Given the description of an element on the screen output the (x, y) to click on. 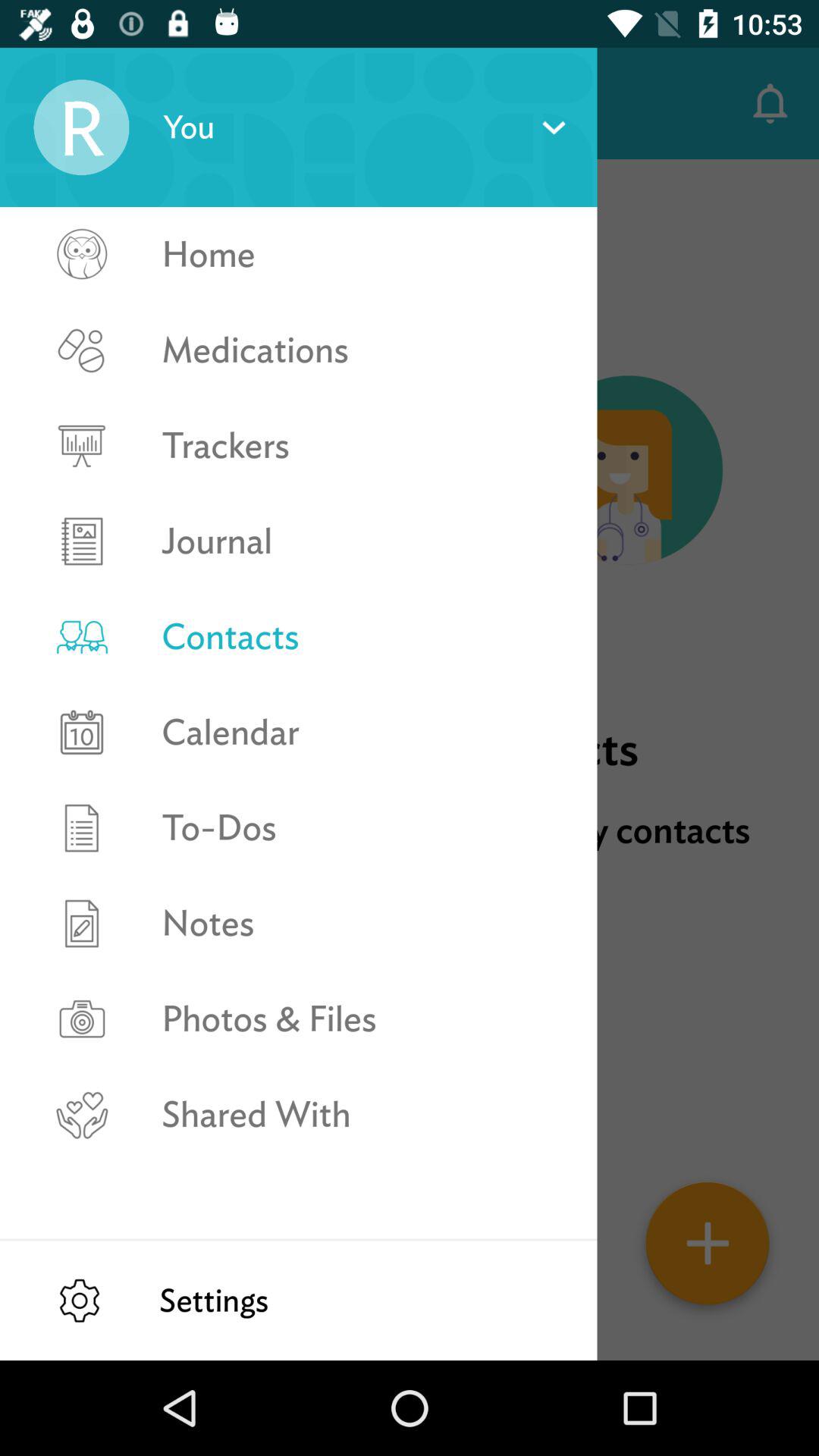
open store doctors clinics icon (409, 855)
